Given the description of an element on the screen output the (x, y) to click on. 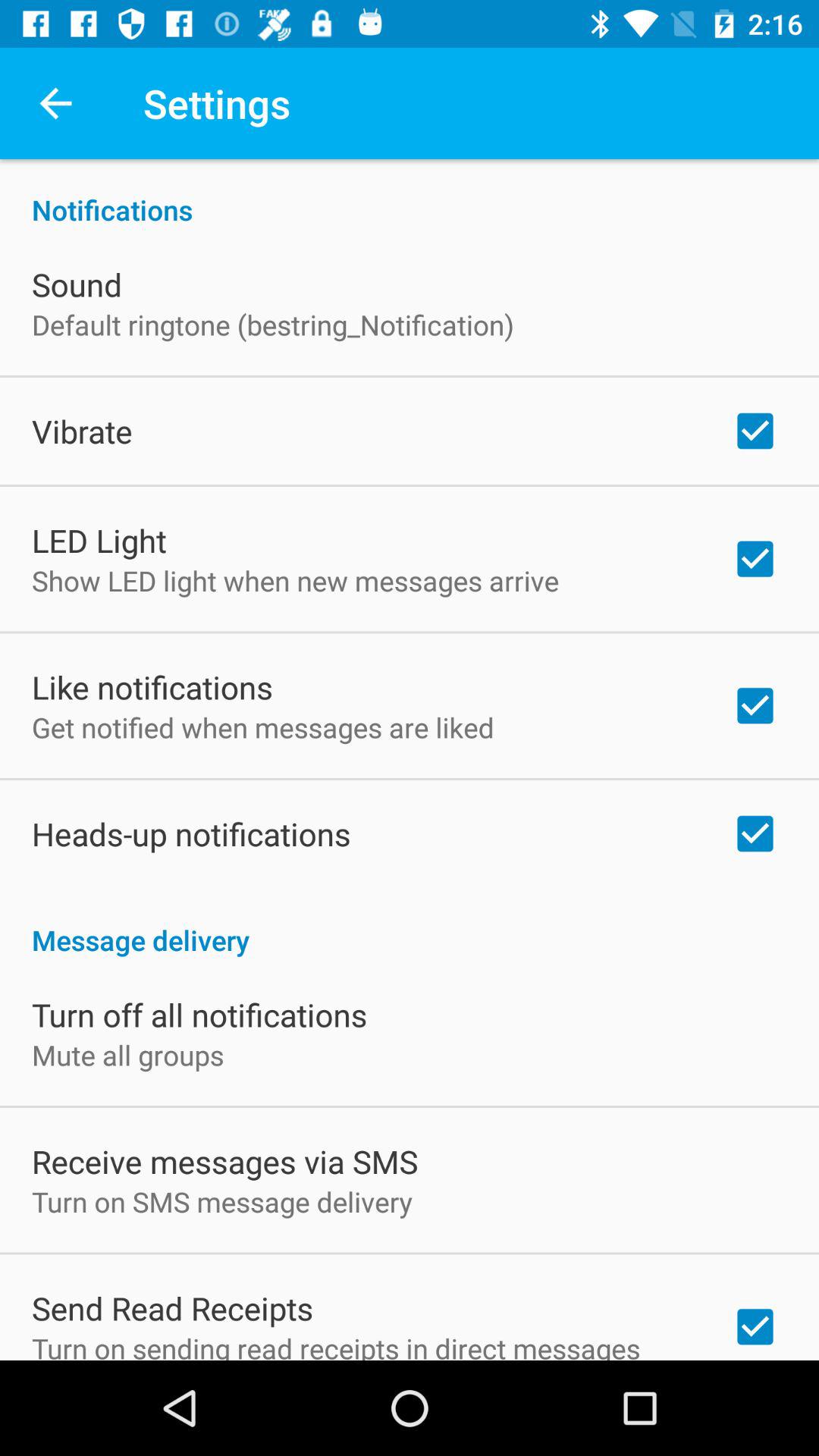
tap icon above the get notified when (152, 686)
